Given the description of an element on the screen output the (x, y) to click on. 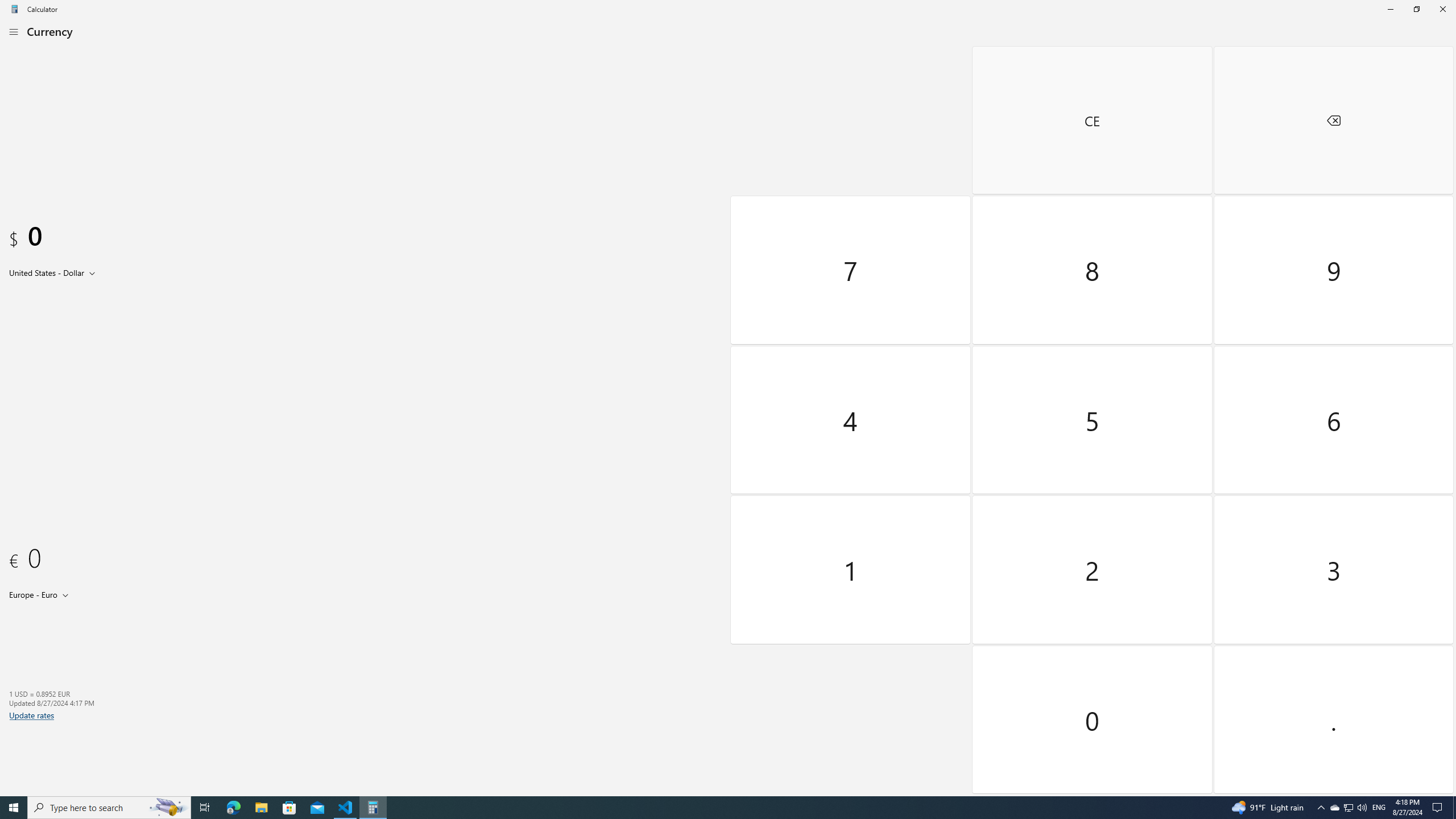
Nine (1333, 269)
Backspace (1333, 119)
Seven (850, 269)
Close Calculator (1442, 9)
Decimal separator (1333, 719)
Update rates (31, 715)
